Given the description of an element on the screen output the (x, y) to click on. 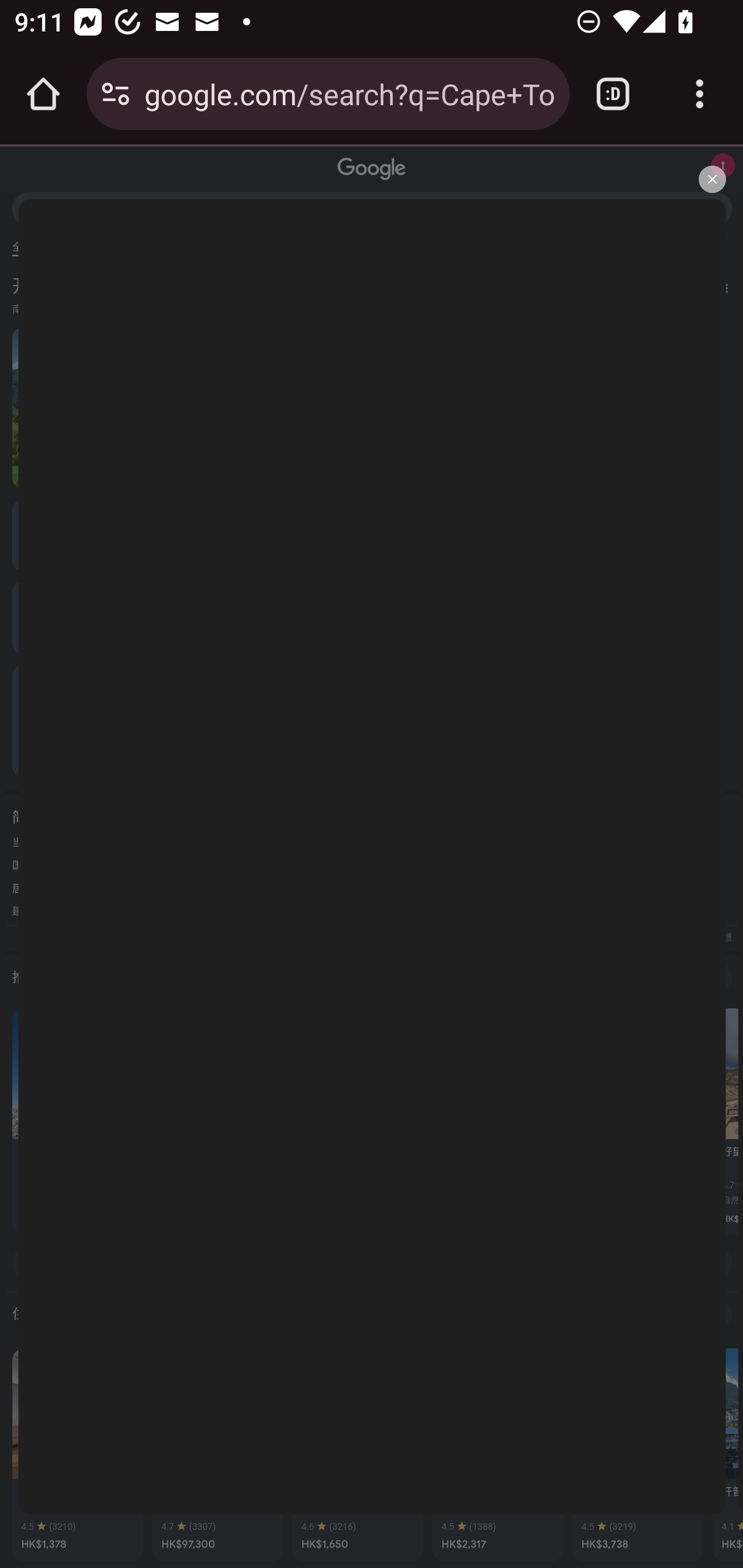
Open the home page (43, 93)
Connection is secure (115, 93)
Switch or close tabs (612, 93)
Customize and control Google Chrome (699, 93)
关闭 (712, 179)
